Given the description of an element on the screen output the (x, y) to click on. 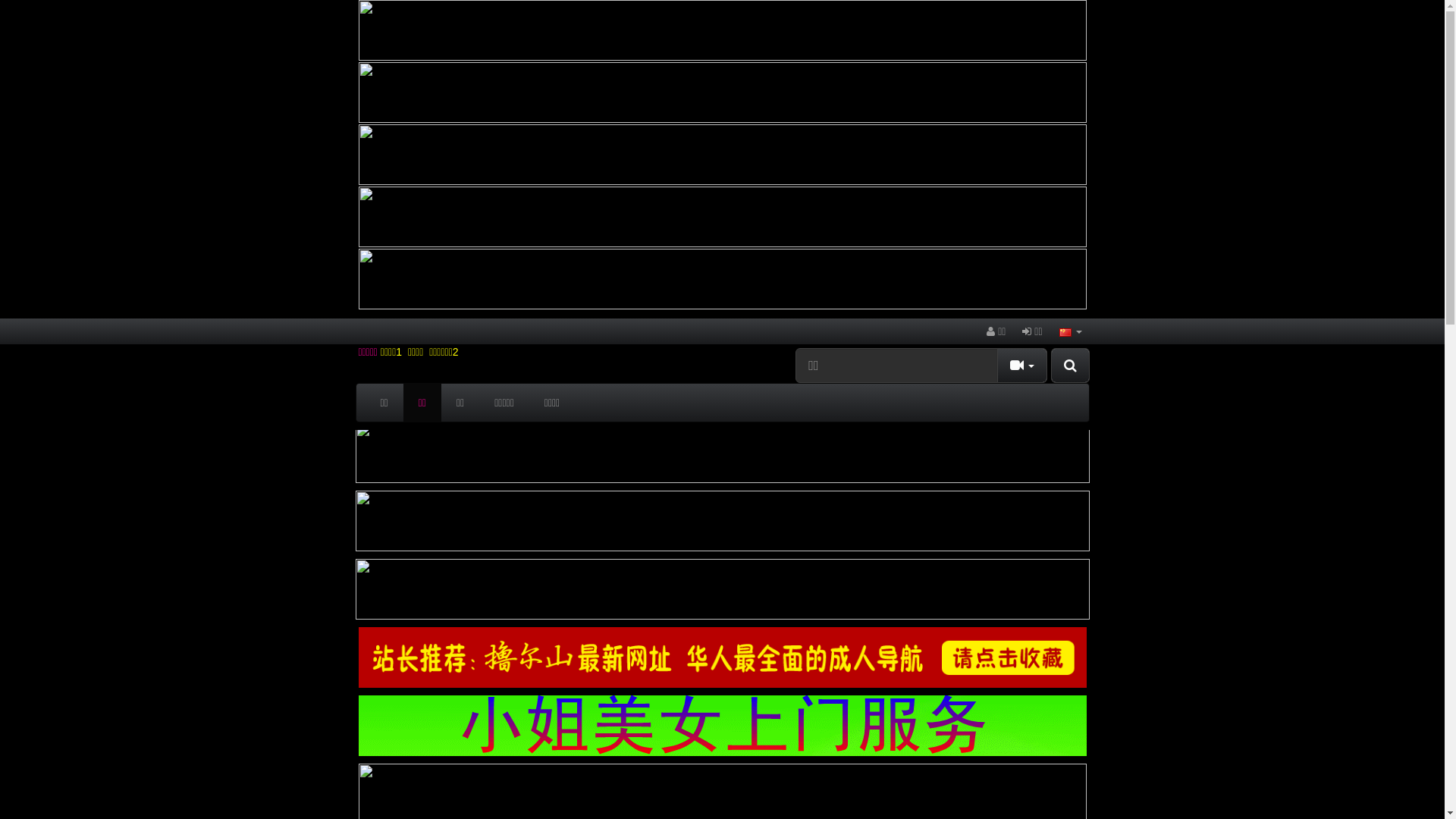
Toggle Dropdown Element type: text (1021, 365)
